Given the description of an element on the screen output the (x, y) to click on. 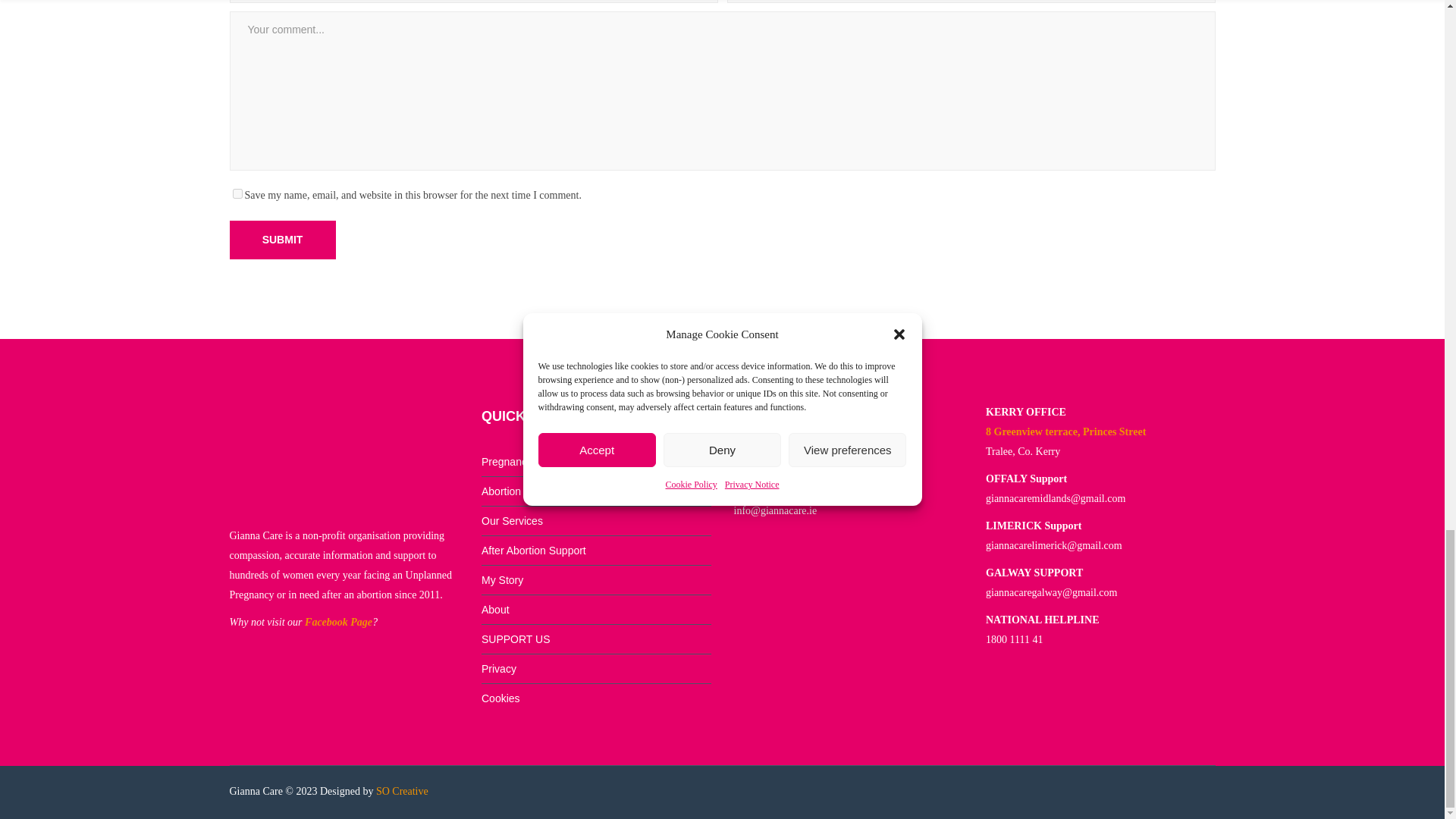
yes (236, 194)
Submit (281, 240)
